Given the description of an element on the screen output the (x, y) to click on. 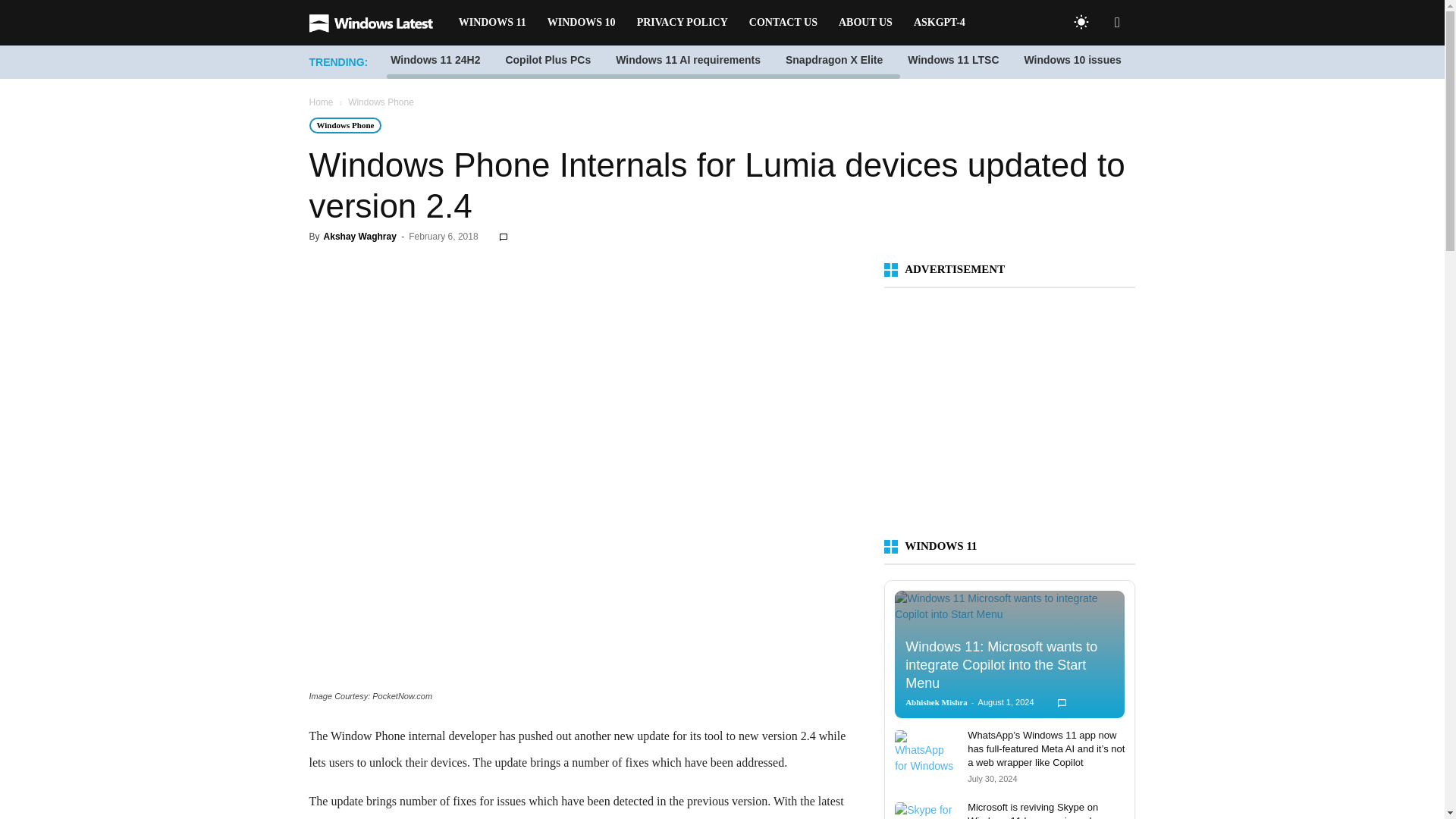
WINDOWS 10 (581, 22)
WINDOWS 11 (492, 22)
Windows Latest (378, 22)
